Given the description of an element on the screen output the (x, y) to click on. 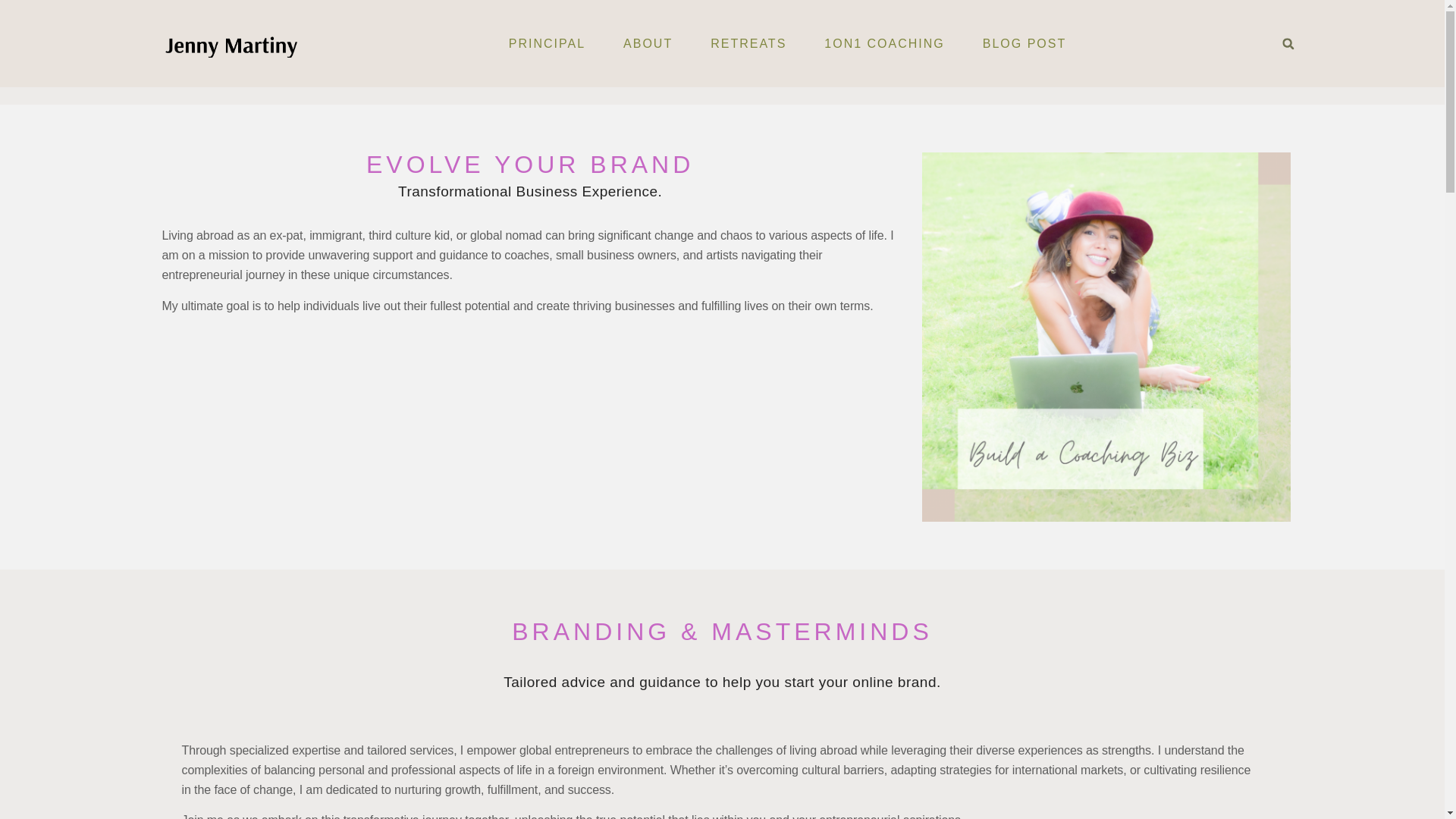
1ON1 COACHING (883, 44)
RETREATS (748, 44)
ABOUT (647, 44)
BLOG POST (1023, 44)
PRINCIPAL (546, 44)
